Given the description of an element on the screen output the (x, y) to click on. 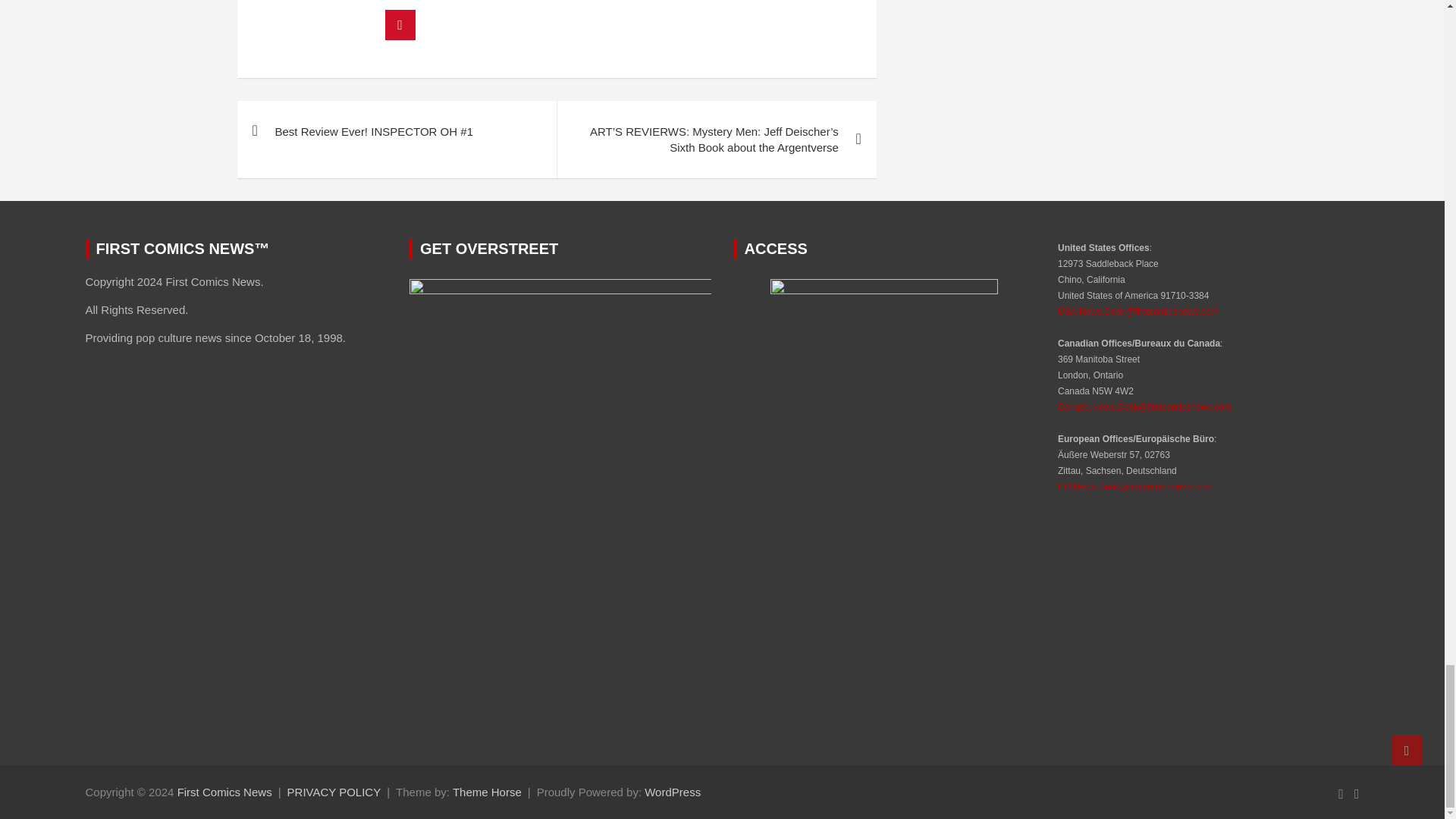
Theme Horse (486, 791)
First Comics News (224, 791)
WordPress (672, 791)
